Given the description of an element on the screen output the (x, y) to click on. 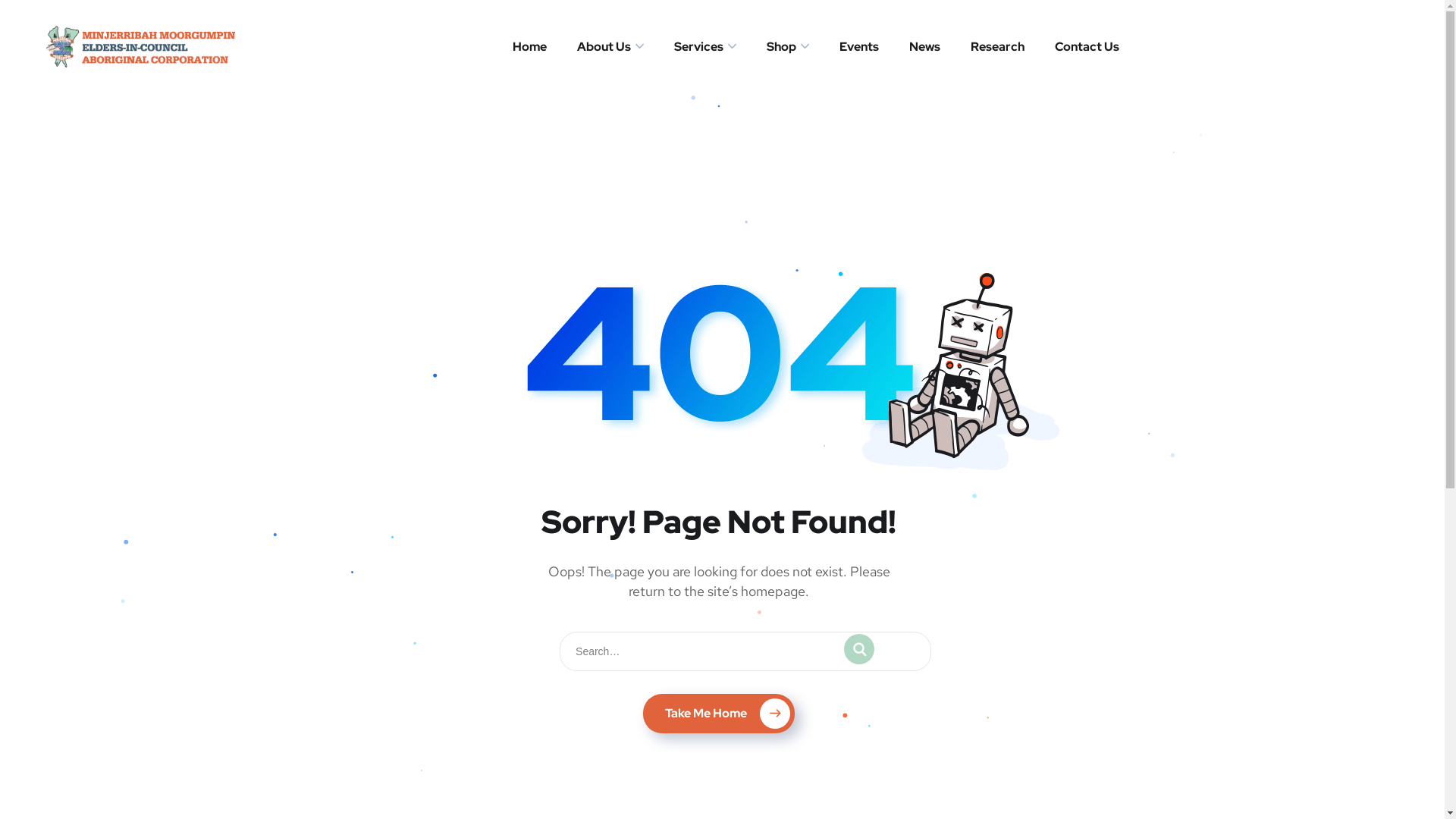
Events Element type: text (858, 46)
News Element type: text (924, 46)
Home Element type: text (529, 46)
Services Element type: text (705, 46)
Contact Us Element type: text (1086, 46)
Research Element type: text (997, 46)
Take Me Home Element type: text (718, 713)
About Us Element type: text (610, 46)
Shop Element type: text (787, 46)
